Given the description of an element on the screen output the (x, y) to click on. 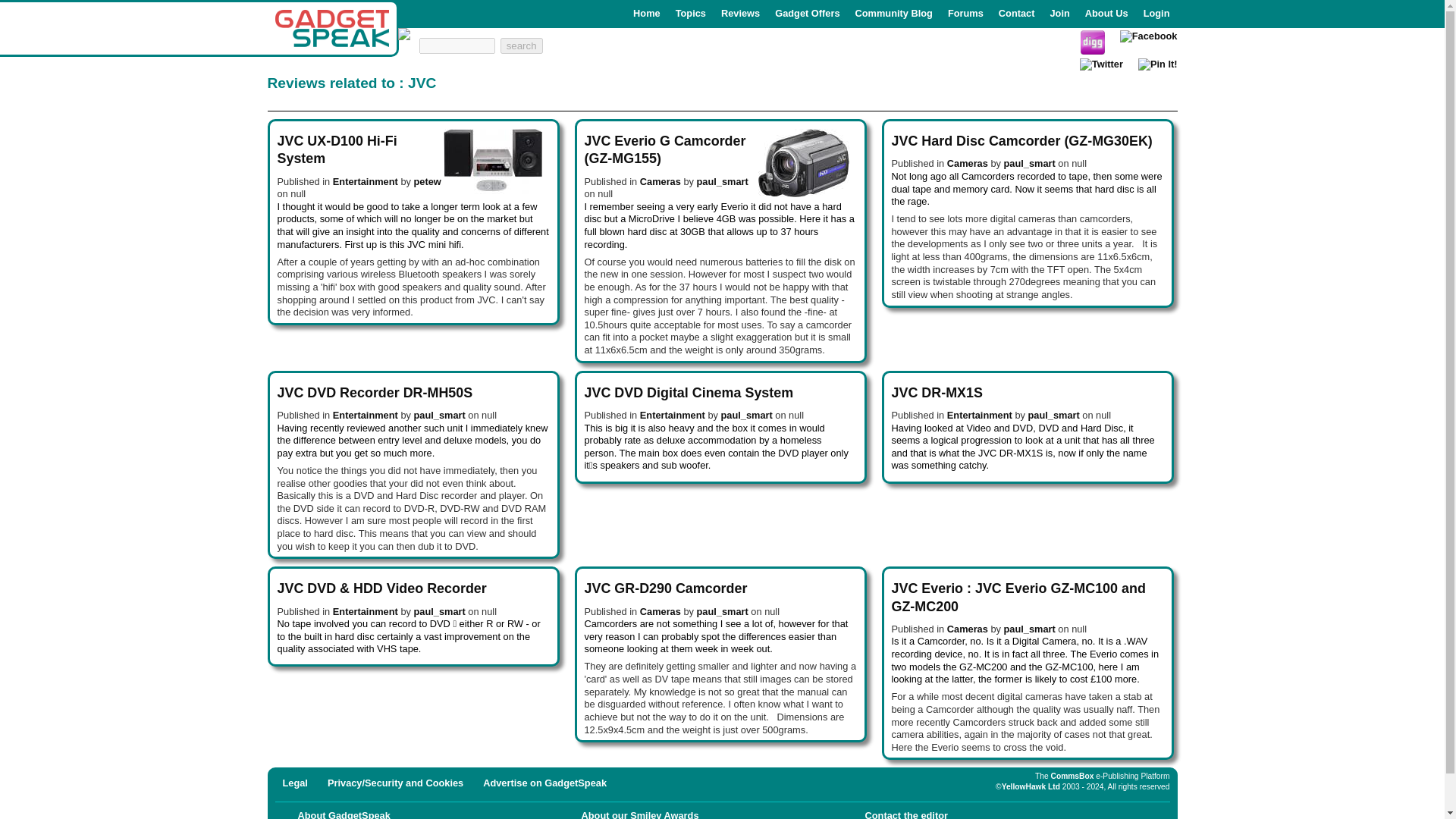
Cameras (967, 628)
Legal (294, 782)
Site search (480, 45)
JVC DVD Recorder DR-MH50S (375, 392)
About GadgetSpeak (343, 814)
Entertainment (365, 611)
YellowHawk Ltd (1030, 786)
Cameras (660, 181)
Entertainment (365, 181)
petew (427, 181)
